Given the description of an element on the screen output the (x, y) to click on. 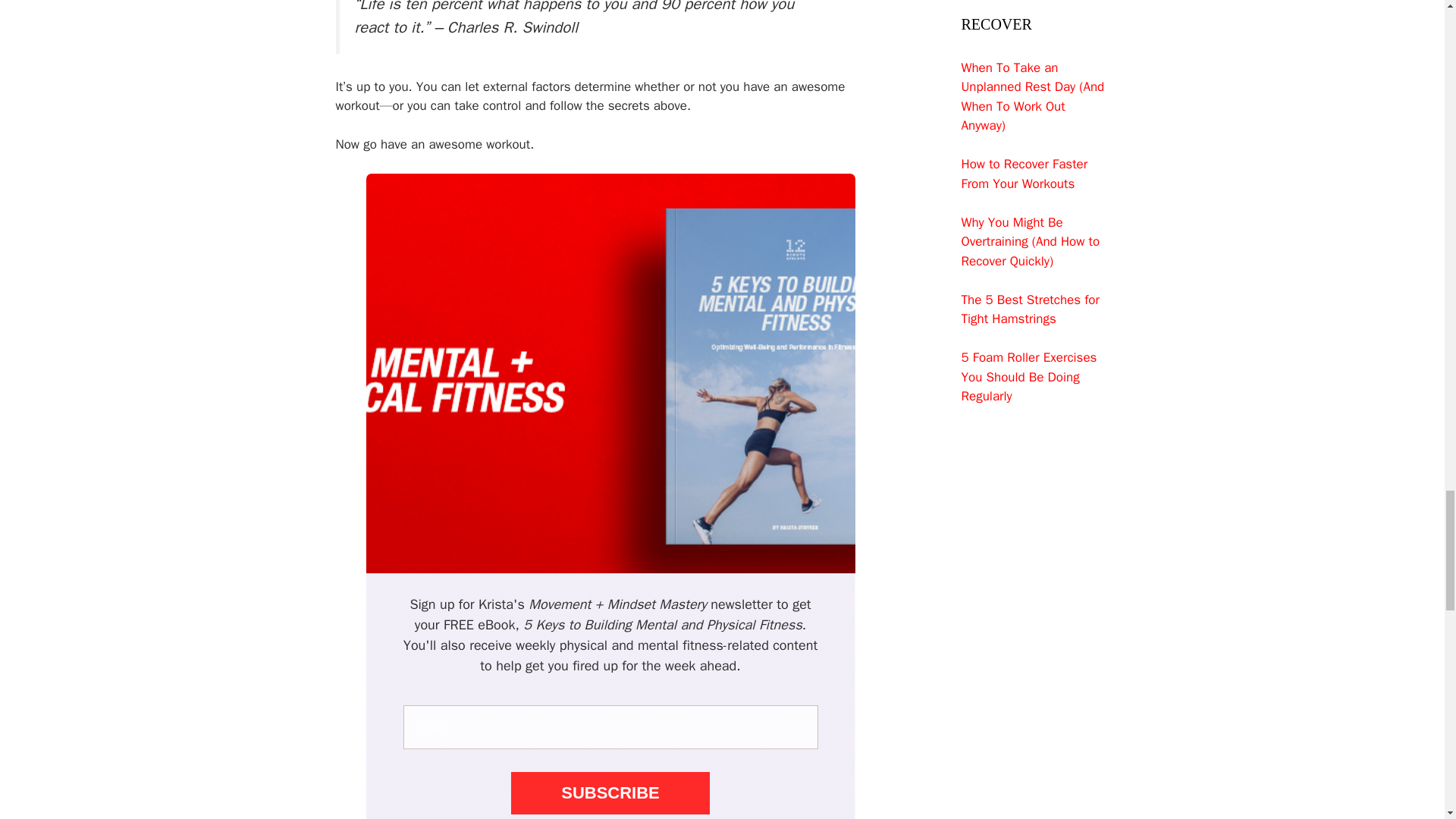
SUBSCRIBE (610, 793)
